Given the description of an element on the screen output the (x, y) to click on. 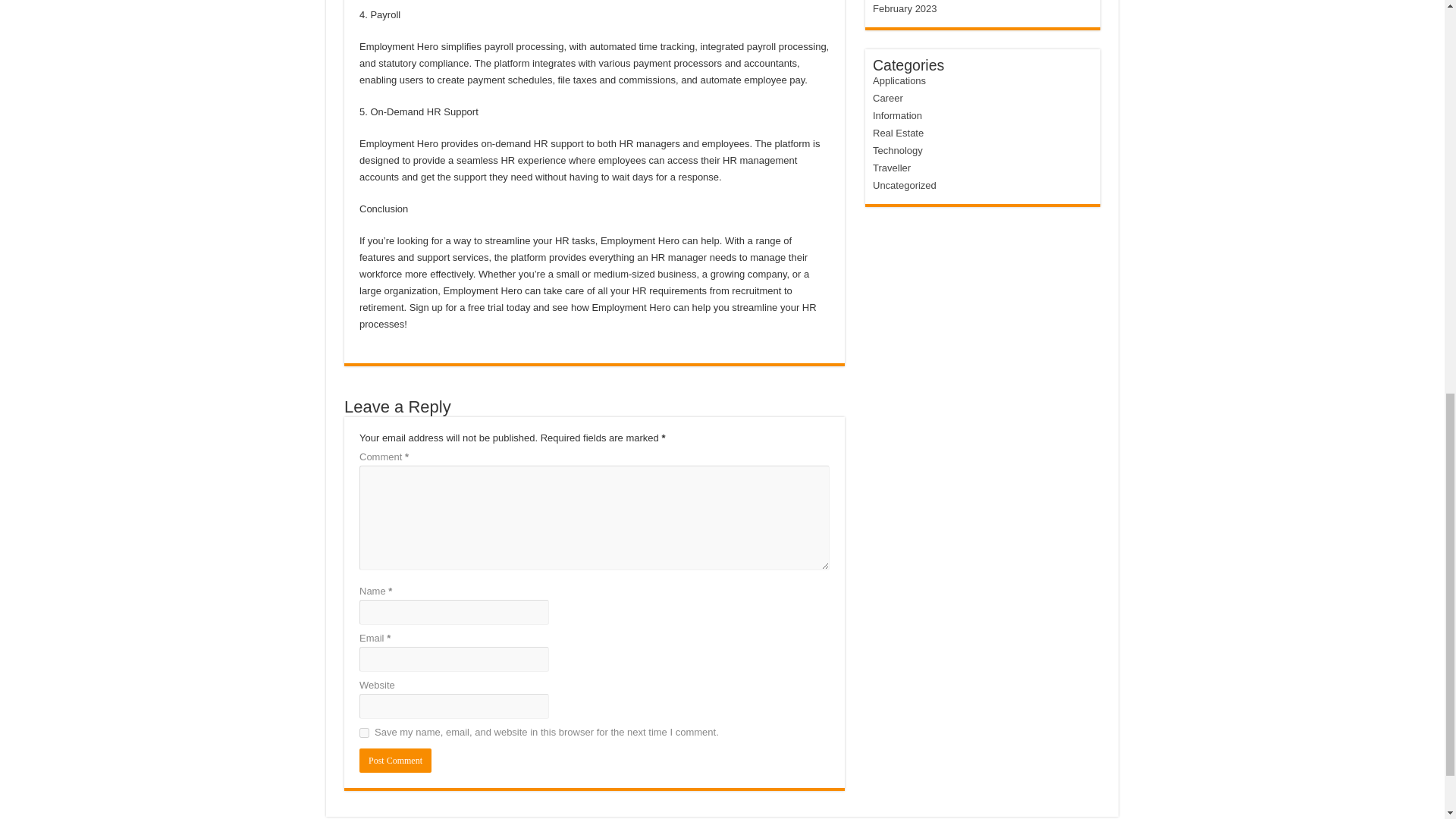
Post Comment (394, 760)
yes (364, 732)
Post Comment (394, 760)
